Given the description of an element on the screen output the (x, y) to click on. 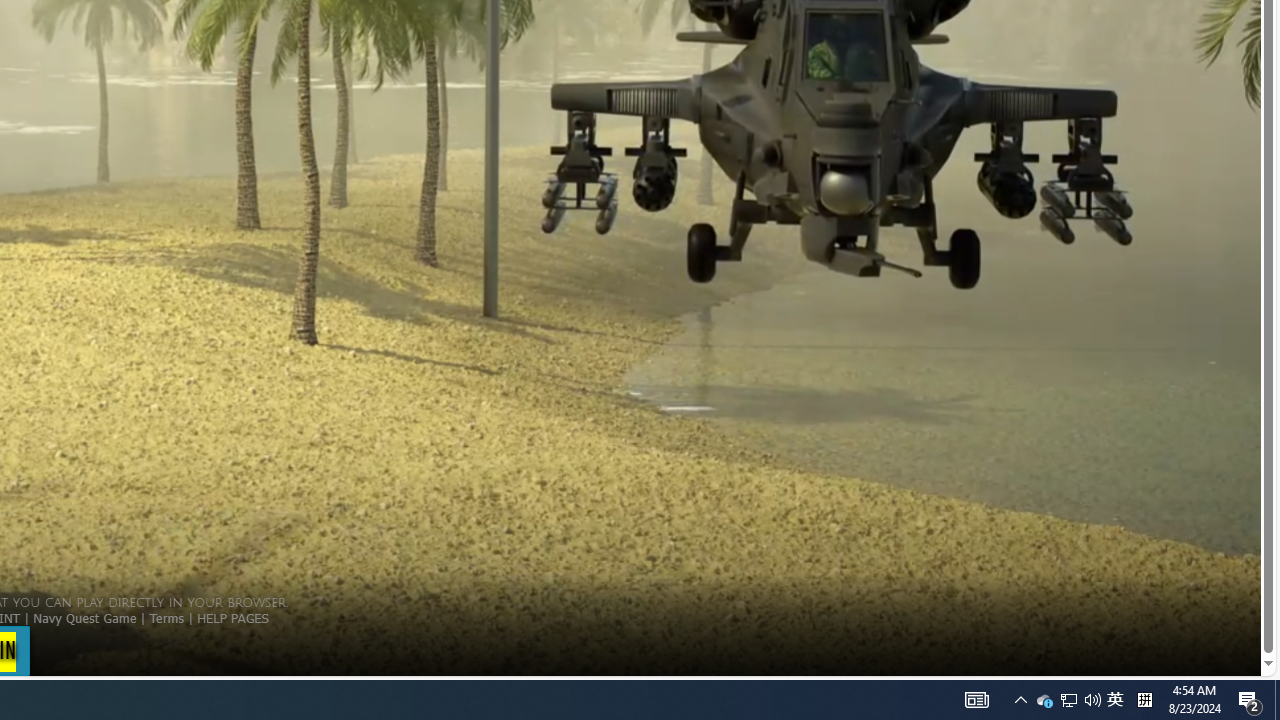
Terms (1069, 699)
Q2790: 100% (166, 617)
Action Center, 2 new notifications (1092, 699)
Notification Chevron (1115, 699)
Tray Input Indicator - Chinese (Simplified, China) (1250, 699)
AutomationID: 4105 (1044, 699)
Navy Quest Game (1020, 699)
Show desktop (1144, 699)
HELP PAGES (976, 699)
User Promoted Notification Area (84, 617)
